Given the description of an element on the screen output the (x, y) to click on. 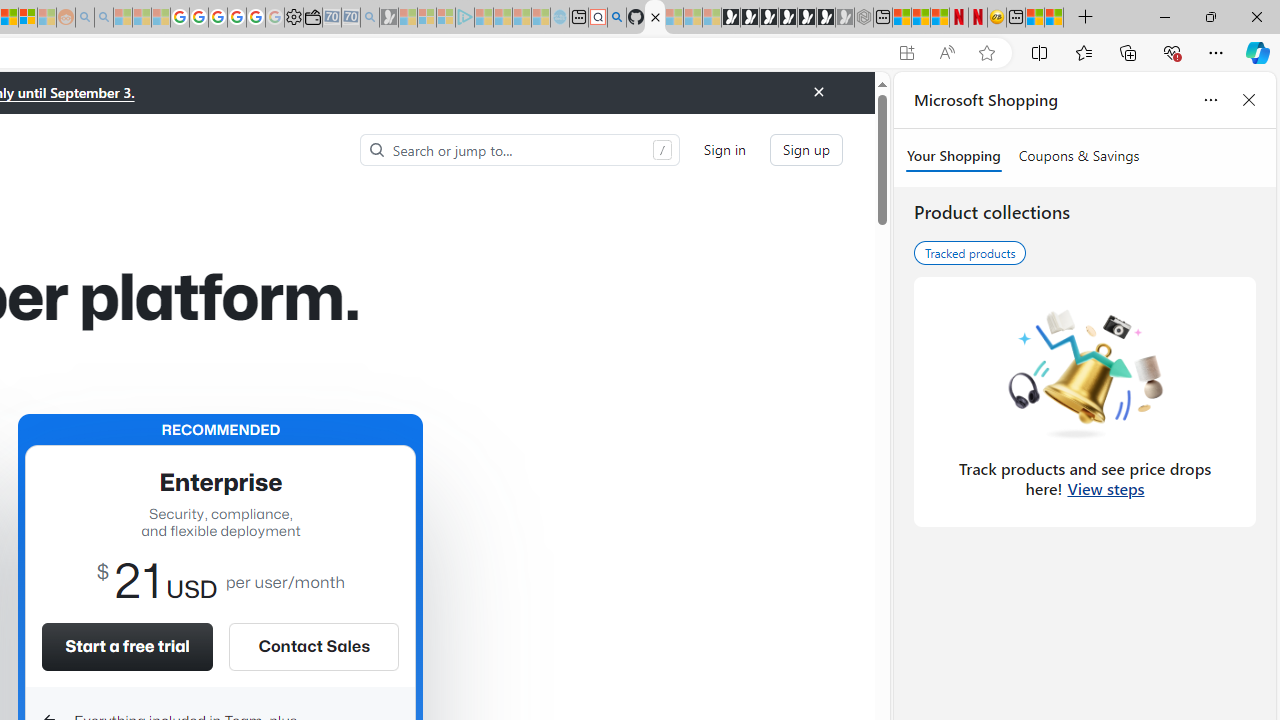
Play Cave FRVR in your browser | Games from Microsoft Start (769, 17)
Contact Sales (313, 646)
